Given the description of an element on the screen output the (x, y) to click on. 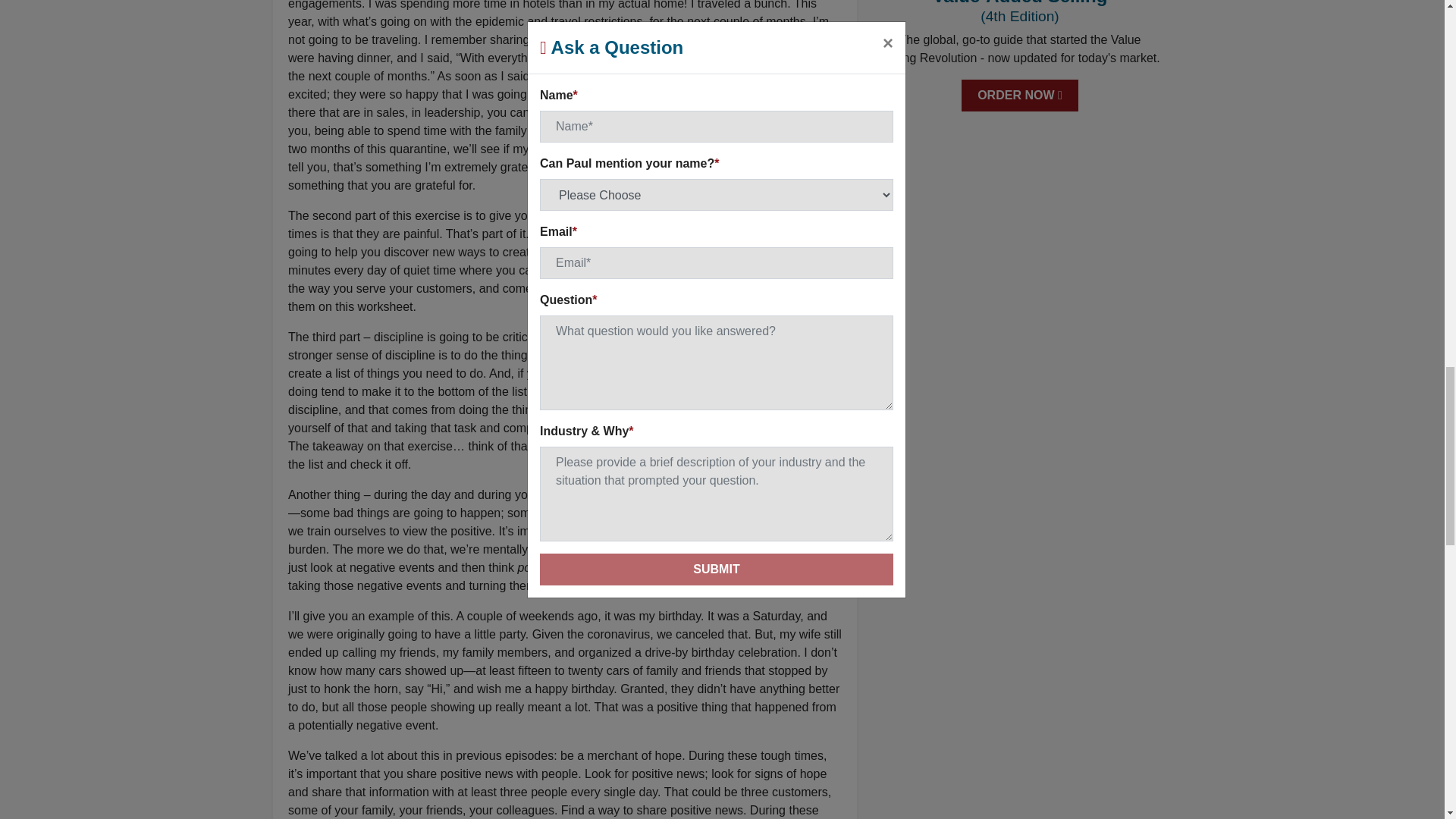
ORDER NOW (1019, 95)
